Given the description of an element on the screen output the (x, y) to click on. 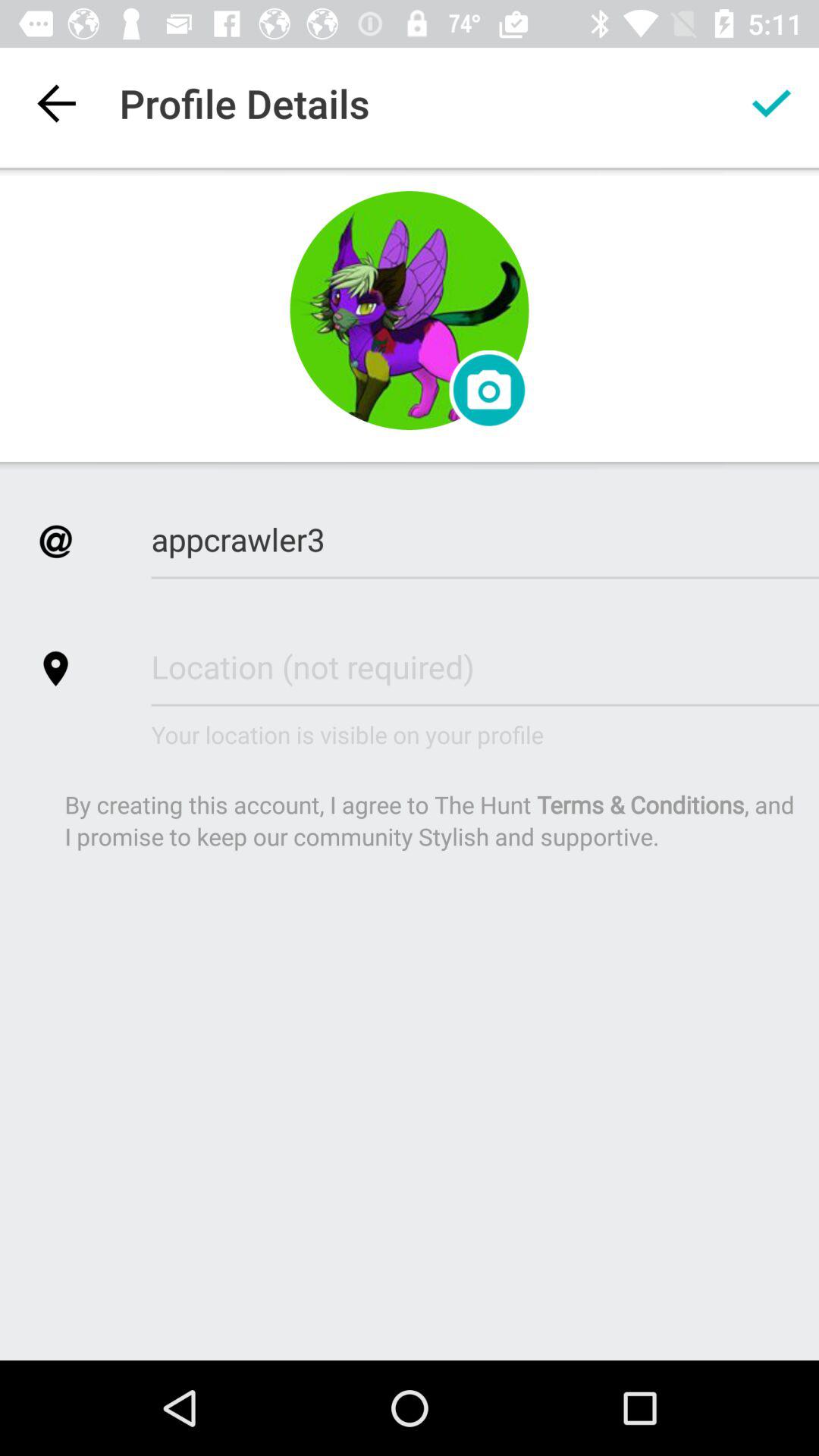
go back (55, 103)
